Given the description of an element on the screen output the (x, y) to click on. 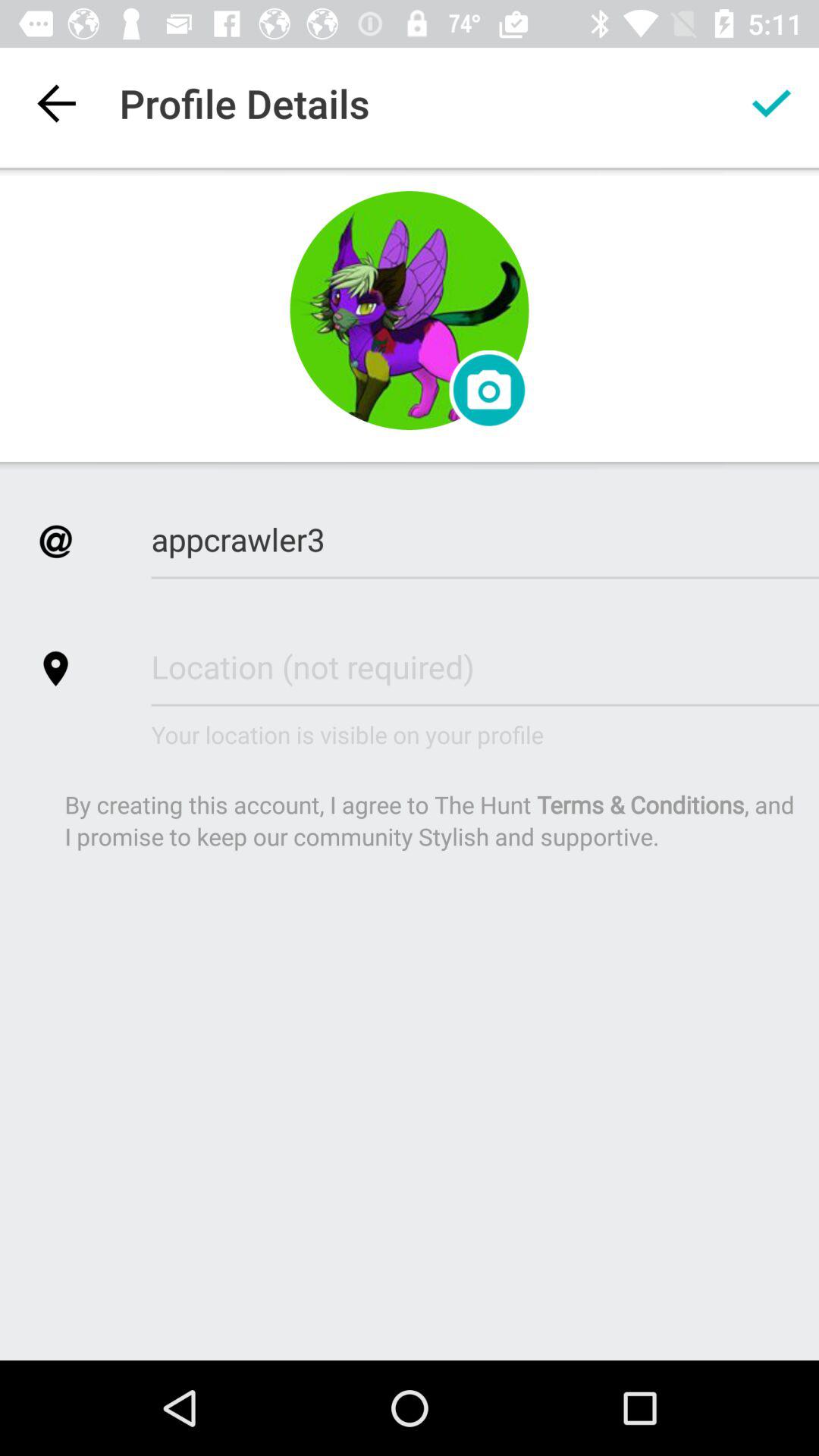
go back (55, 103)
